Given the description of an element on the screen output the (x, y) to click on. 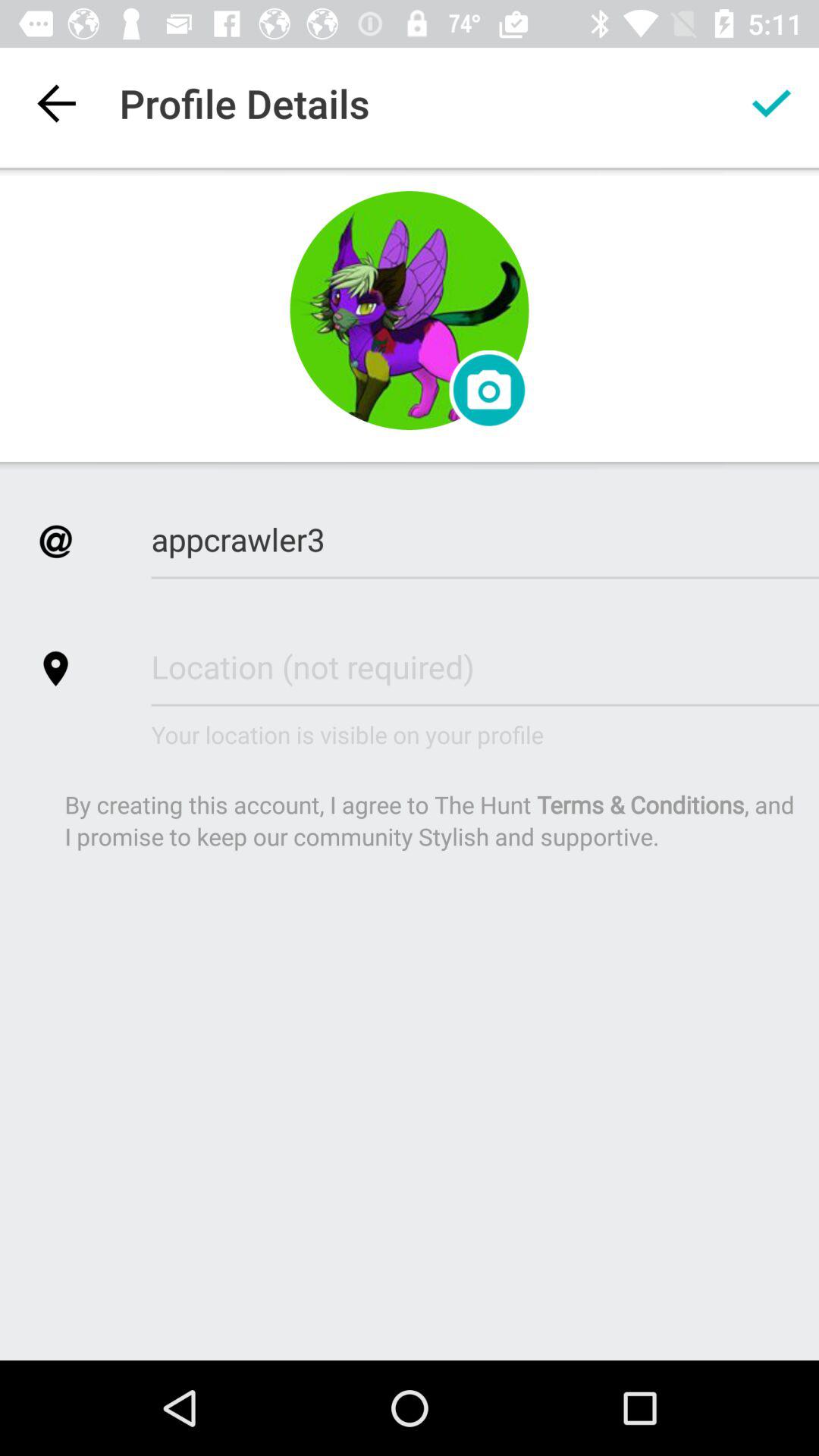
go back (55, 103)
